Given the description of an element on the screen output the (x, y) to click on. 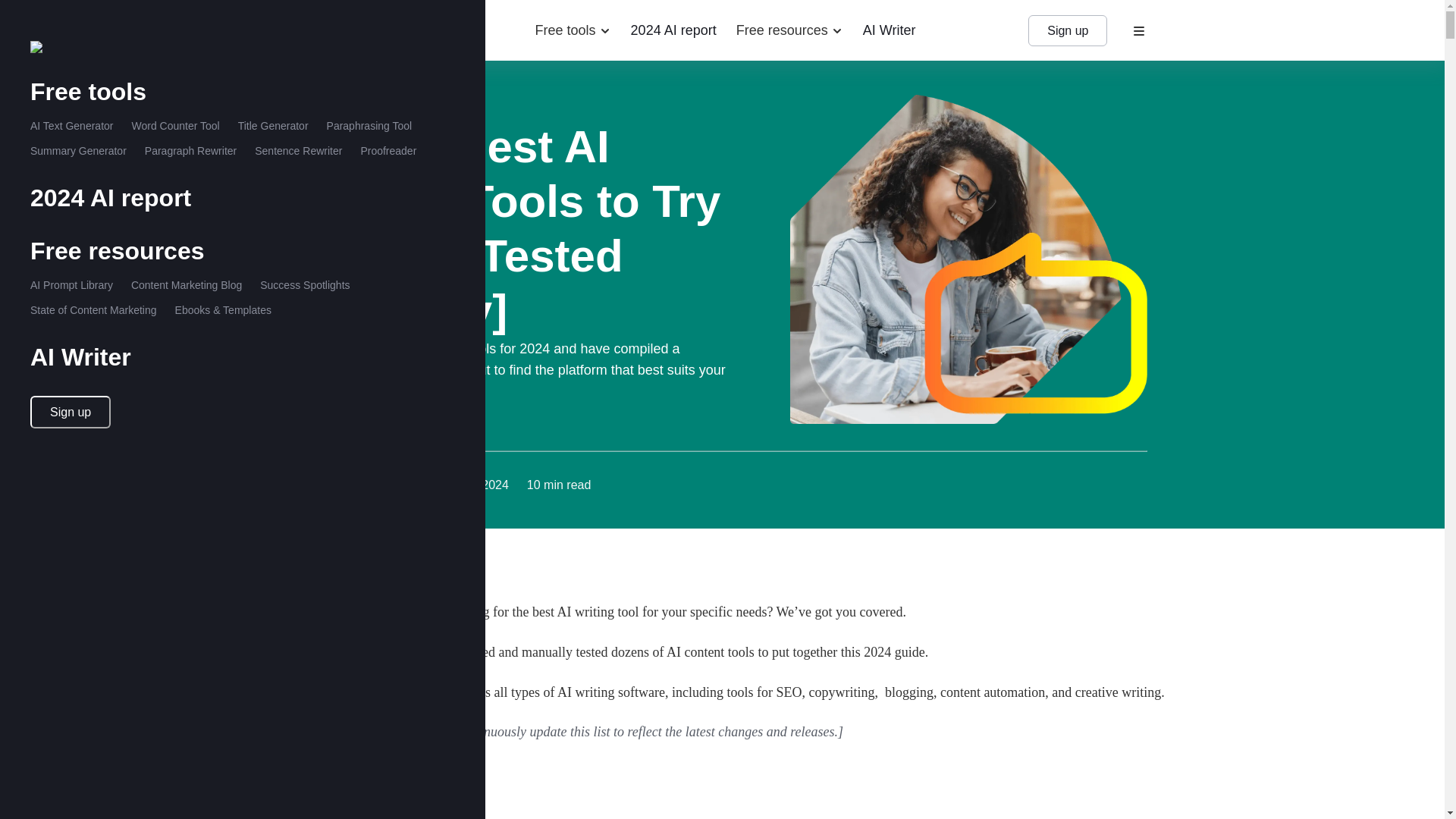
2024 AI report (110, 197)
State of Content Marketing (93, 309)
Summary Generator (78, 150)
How I Created This List of AI Writing Tools (351, 630)
Paragraph Rewriter (189, 150)
AI Text Generator (71, 125)
2024 AI report (673, 30)
The 10 Best AI Writing Tools to Try in 2024 (357, 687)
AI Writer (889, 30)
Sign up (70, 411)
The 10 Best AI Writing Generators in 2024 at a Glance (357, 745)
Word Counter Tool (175, 125)
Title Generator (273, 125)
Sign up (1066, 30)
Success Spotlights (304, 285)
